Given the description of an element on the screen output the (x, y) to click on. 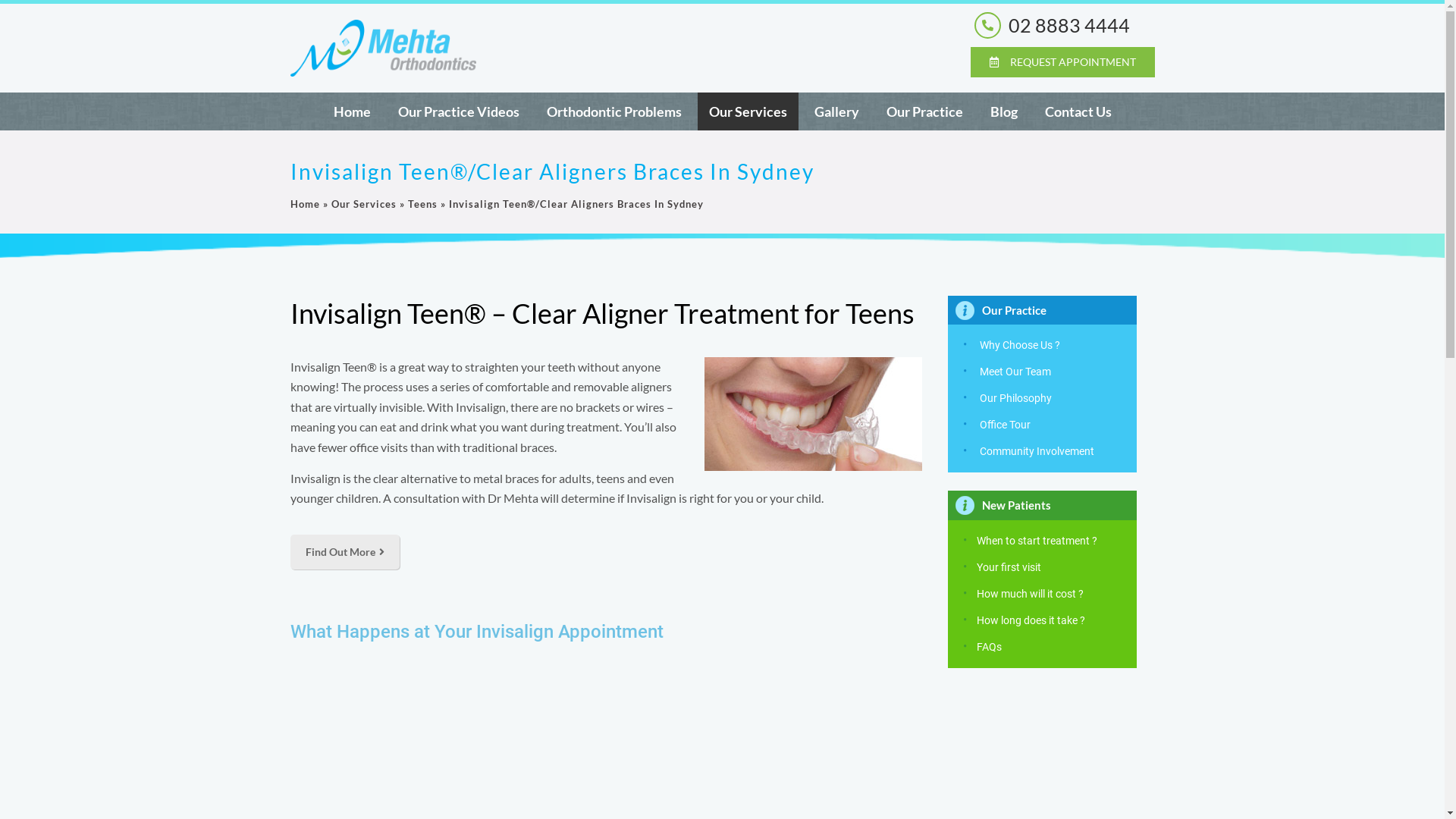
Gallery Element type: text (835, 111)
Our Services Element type: text (747, 111)
Community Involvement Element type: text (1036, 450)
Our Philosophy Element type: text (1015, 397)
How much will it cost ? Element type: text (1029, 593)
FAQs Element type: text (988, 646)
Why Choose Us ? Element type: text (1019, 344)
02 8883 4444 Element type: text (1068, 24)
Blog Element type: text (1003, 111)
When to start treatment ? Element type: text (1036, 540)
How long does it take ? Element type: text (1030, 619)
Meet Our Team Element type: text (1014, 371)
Office Tour Element type: text (1004, 424)
Teens Element type: text (422, 203)
REQUEST APPOINTMENT Element type: text (1062, 62)
Our Services Element type: text (362, 203)
Home Element type: text (304, 203)
invisalign for adults Element type: hover (813, 413)
Our Practice Videos Element type: text (458, 111)
Your first visit Element type: text (1008, 566)
Find Out More Element type: text (343, 551)
Contact Us Element type: text (1077, 111)
Our Practice Element type: text (924, 111)
Orthodontic Problems Element type: text (614, 111)
Home Element type: text (351, 111)
